Given the description of an element on the screen output the (x, y) to click on. 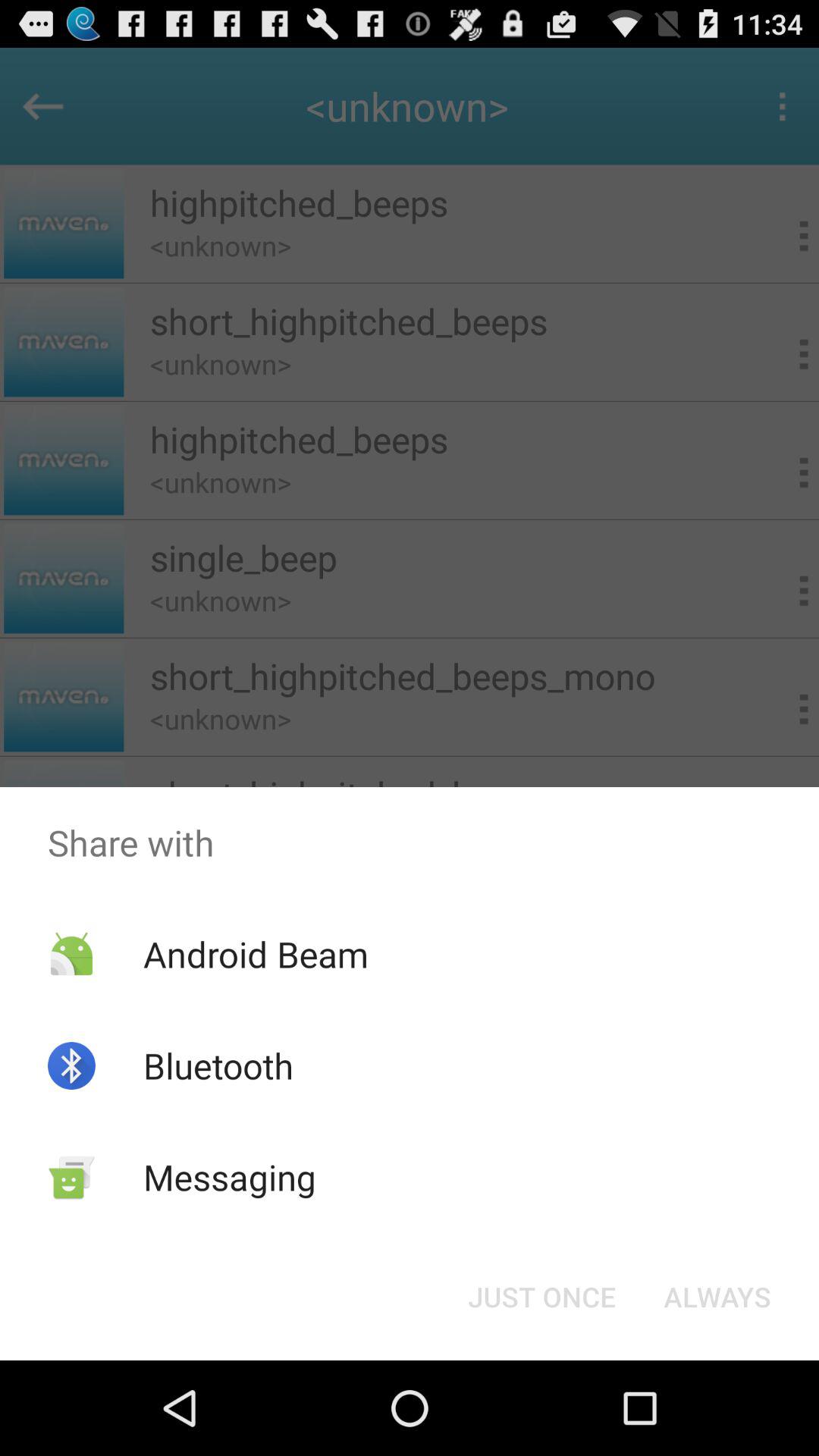
tap the bluetooth (218, 1065)
